Given the description of an element on the screen output the (x, y) to click on. 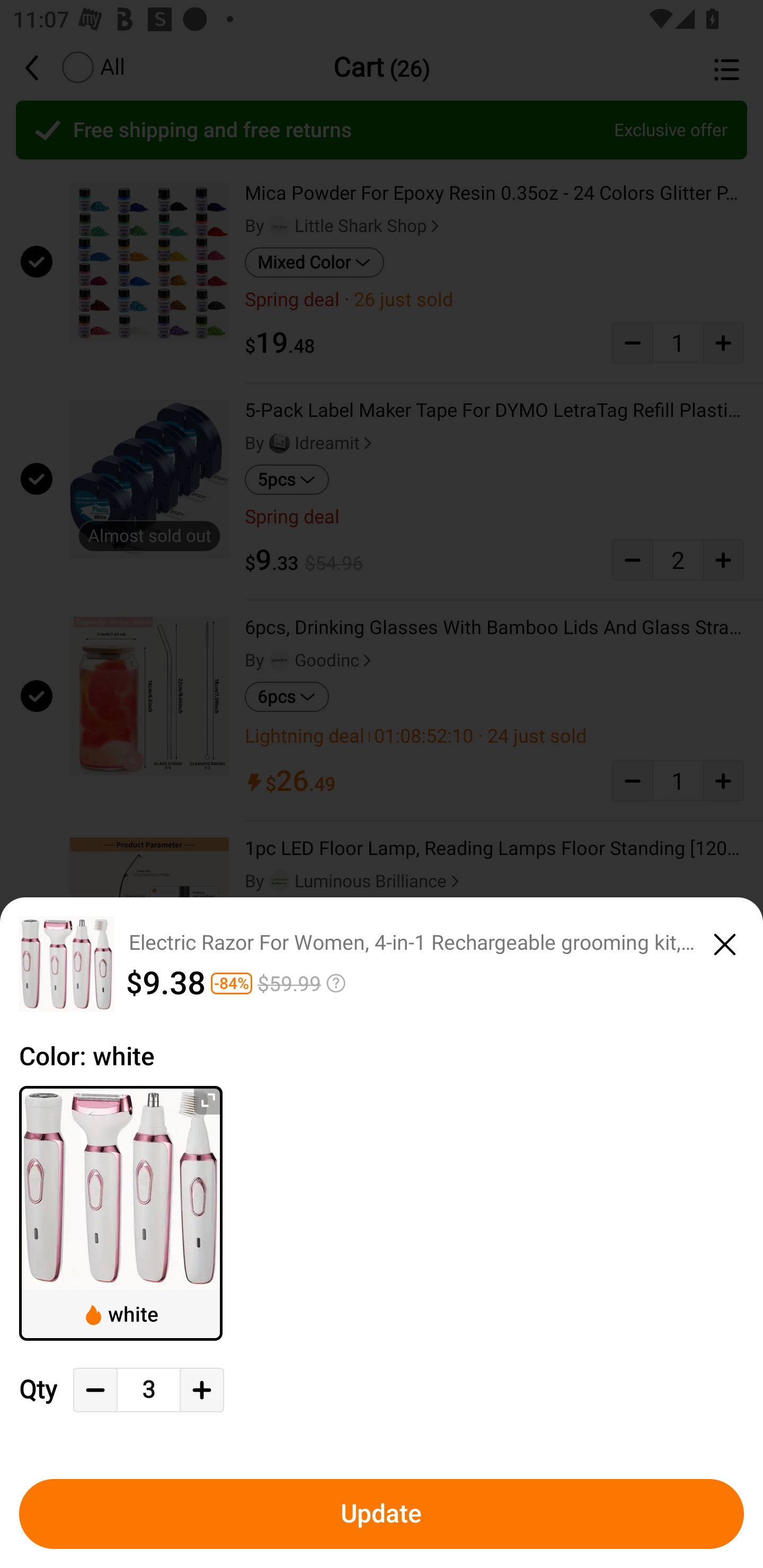
close (724, 941)
white ￼white (120, 1213)
Decrease Quantity Button (95, 1389)
Add Quantity Button (201, 1389)
3 (148, 1389)
Update (381, 1513)
